Given the description of an element on the screen output the (x, y) to click on. 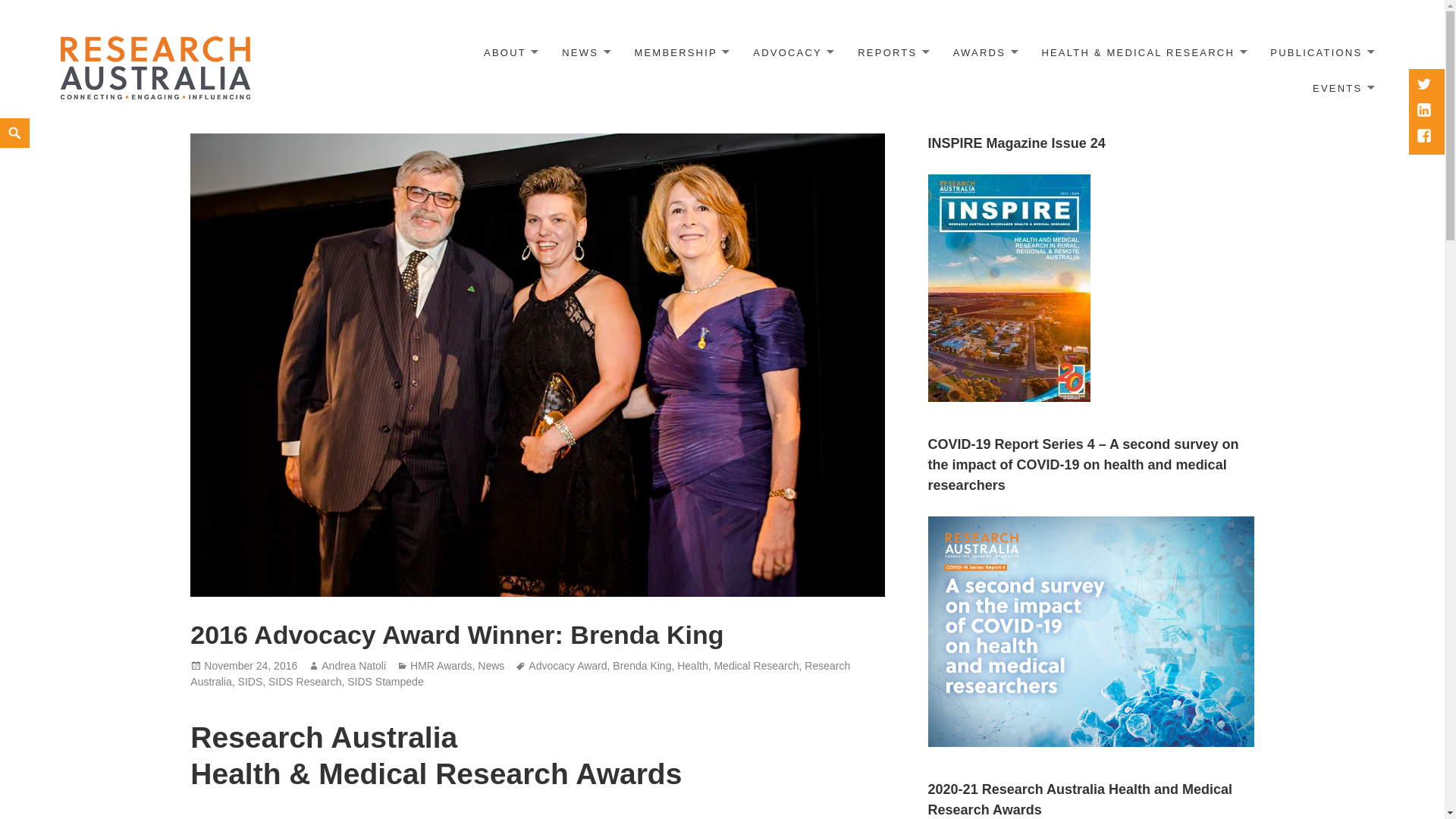
ADVOCACY (792, 53)
MEMBERSHIP (680, 53)
ABOUT (509, 53)
NEWS (585, 53)
AWARDS (984, 53)
REPORTS (892, 53)
RESEARCH AUSTRALIA (155, 66)
